Given the description of an element on the screen output the (x, y) to click on. 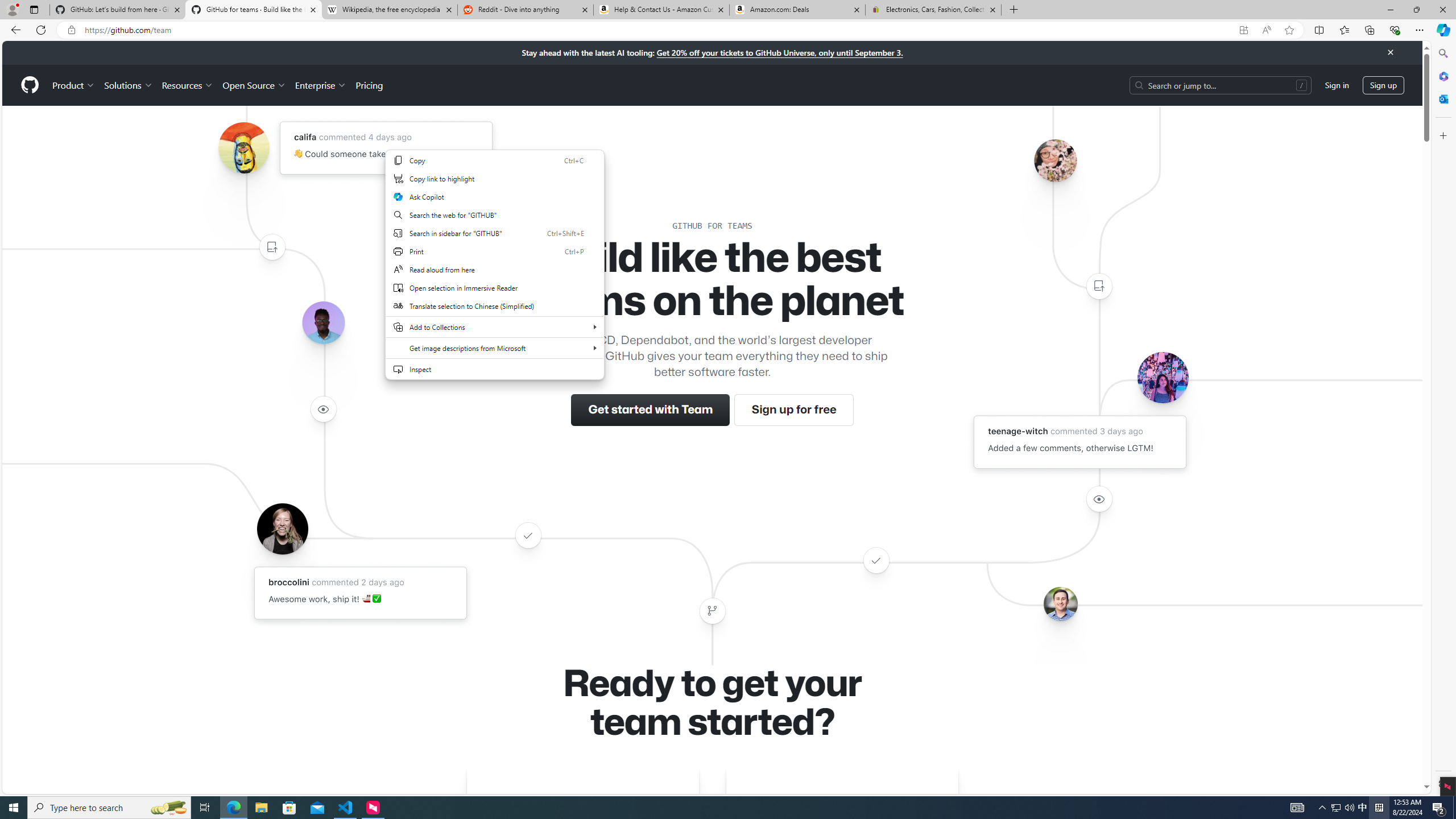
Get image descriptions from Microsoft (494, 348)
Product (74, 84)
Read aloud from here (494, 269)
Copy link to highlight (494, 178)
App available. Install GitHub (1243, 29)
